Given the description of an element on the screen output the (x, y) to click on. 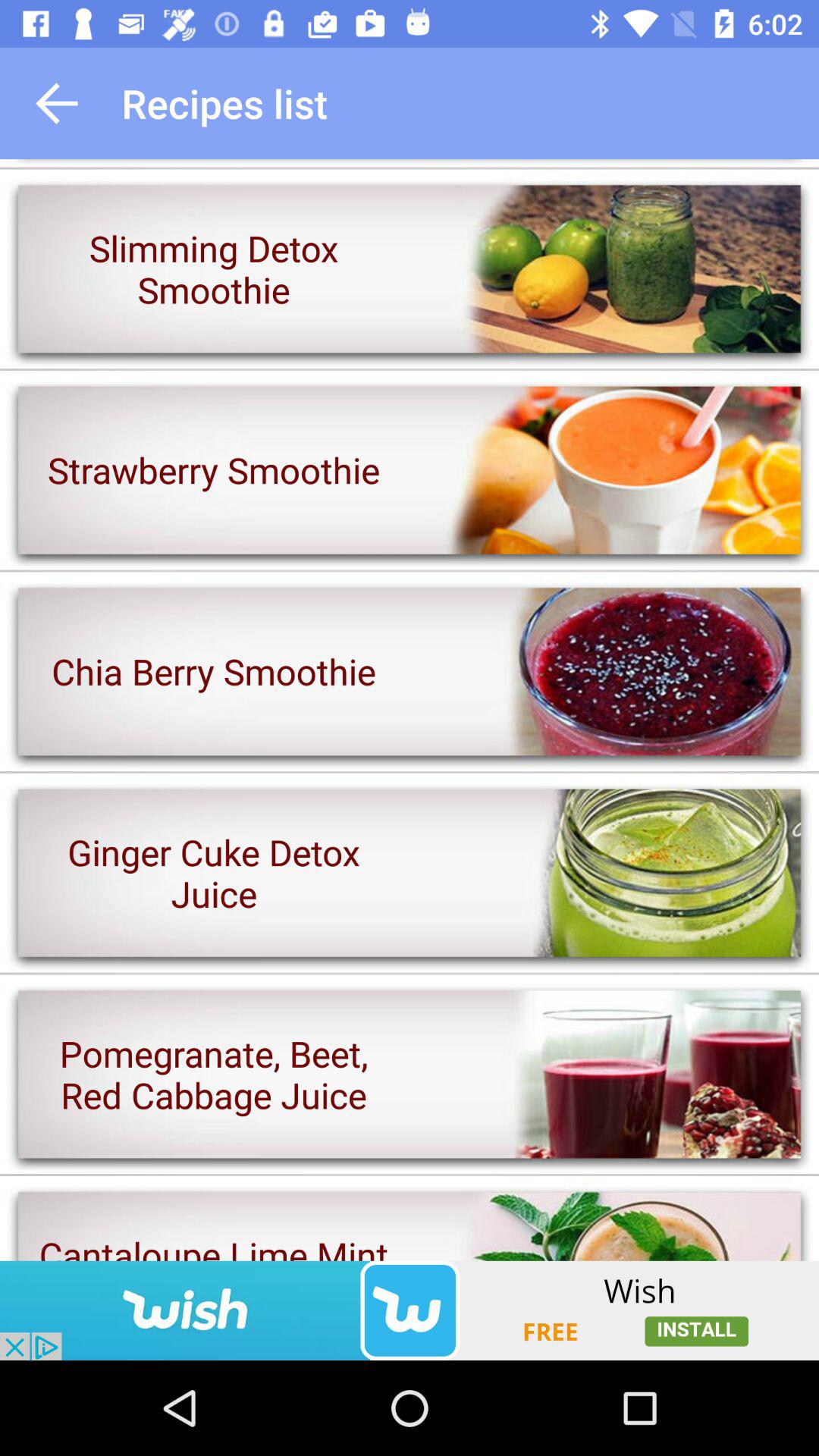
go to the advertising app (409, 1310)
